Given the description of an element on the screen output the (x, y) to click on. 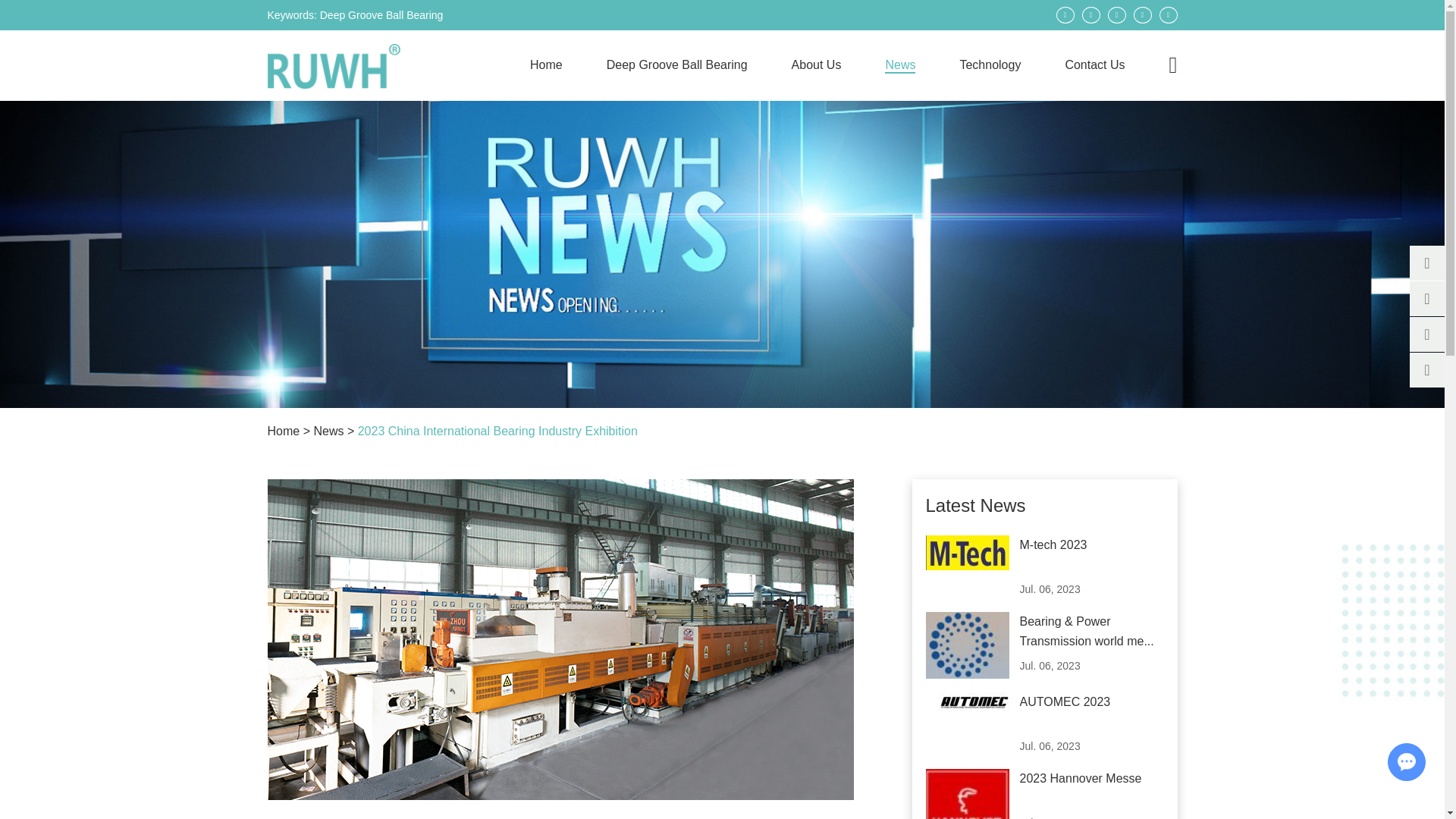
AUTOMEC 2023 (966, 701)
2023 Hannover Messe (1080, 778)
Ningbo Renhe Machinery Bearing Co., Ltd. (332, 66)
2023 Hannover Messe (966, 794)
M-tech 2023 (966, 552)
AUTOMEC 2023 (1064, 701)
Deep Groove Ball Bearing (382, 15)
Deep Groove Ball Bearing (382, 15)
Deep Groove Ball Bearing (677, 64)
M-tech 2023 (1052, 544)
